Given the description of an element on the screen output the (x, y) to click on. 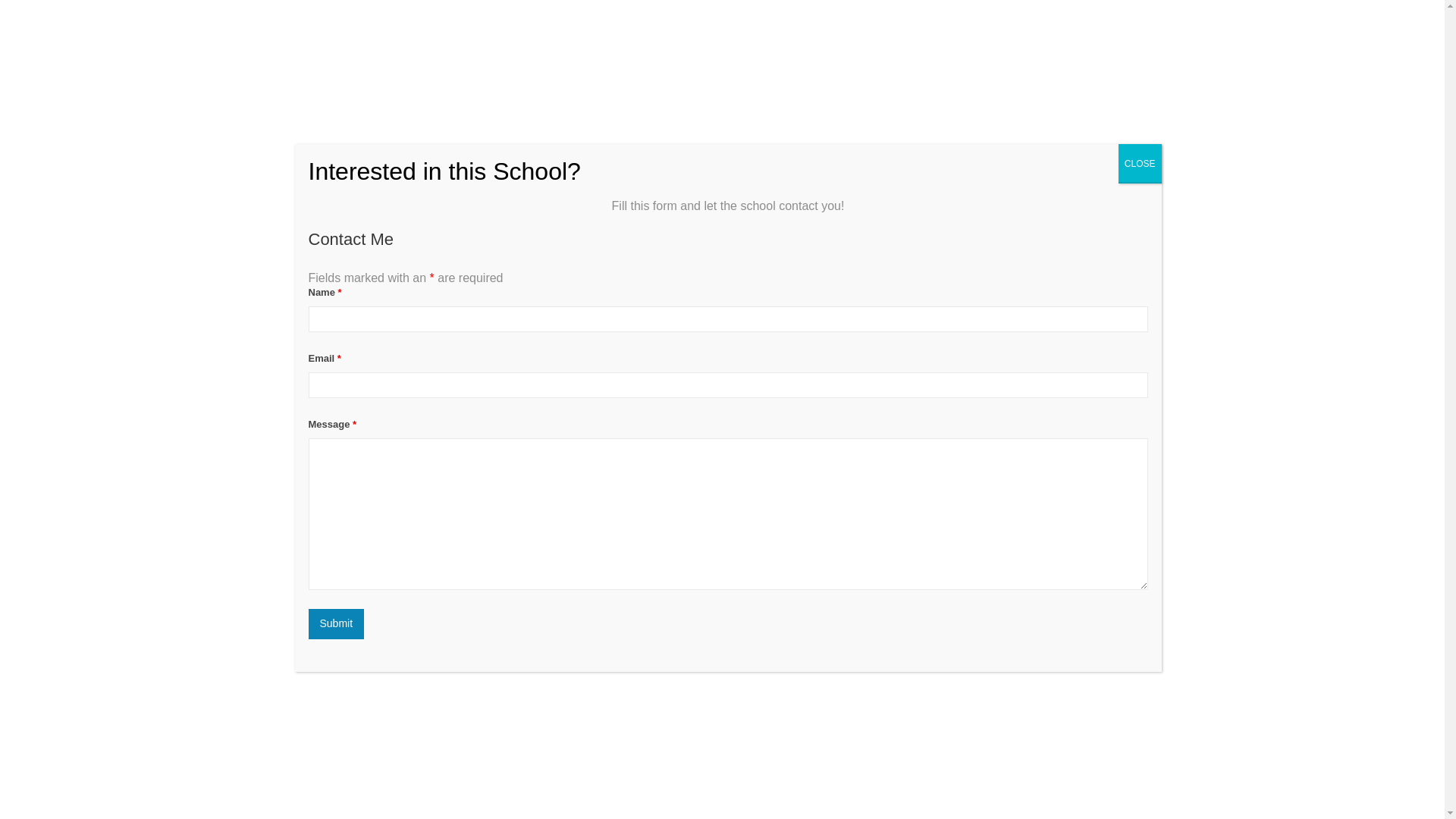
MBA RANKINGS (852, 30)
Post New Review (457, 457)
CONTACT (1118, 30)
Columbus (420, 355)
BLOG (1061, 30)
Share (1128, 390)
Not rated yet! (307, 325)
CLOSE (1139, 163)
Submit (335, 624)
Ohio (379, 355)
Submit (335, 624)
Share (1128, 390)
MBA Reviews (357, 29)
United States (332, 355)
Description (308, 457)
